Given the description of an element on the screen output the (x, y) to click on. 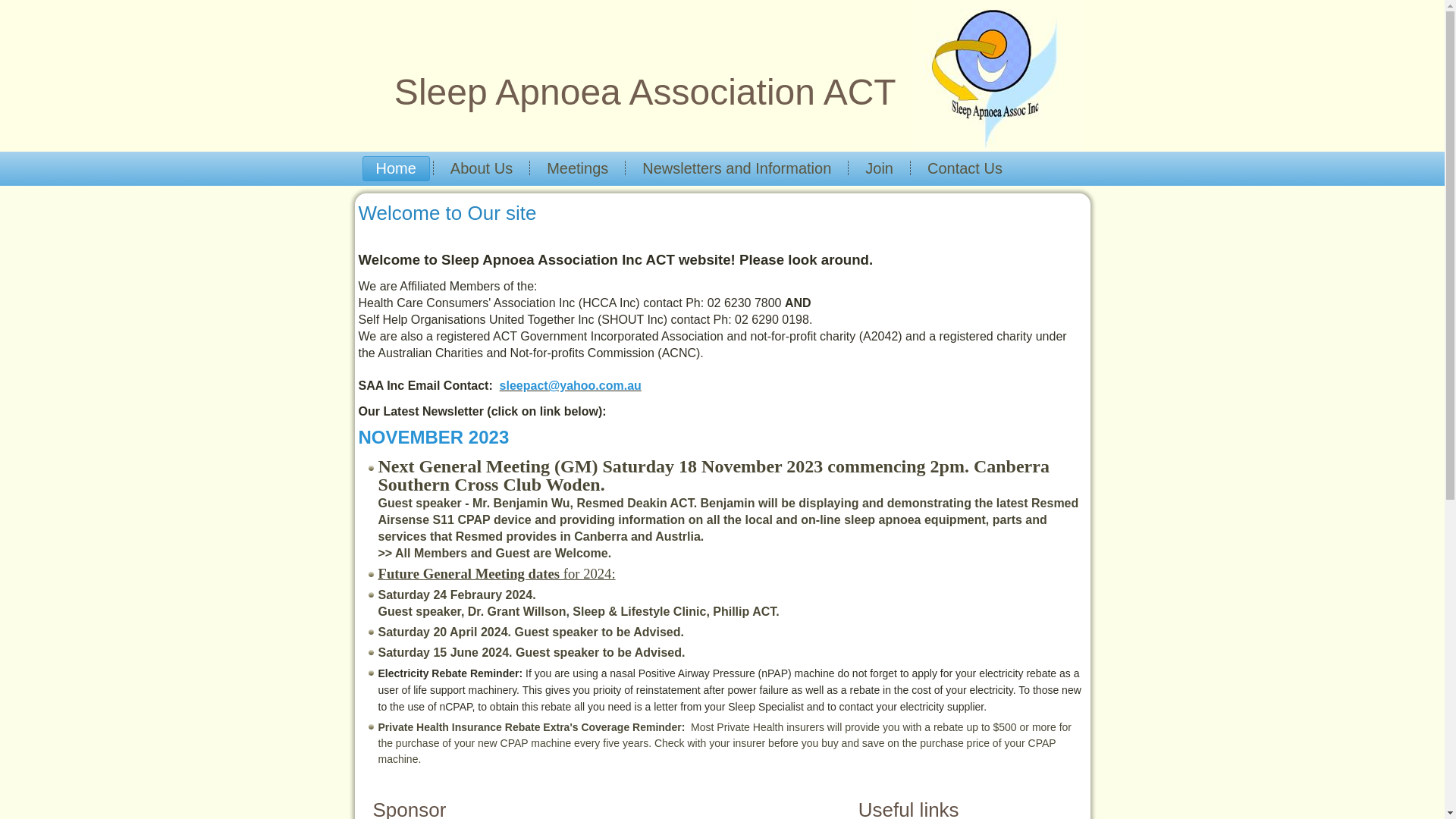
Sleep Apnoea Association ACT Element type: text (645, 92)
sleepact@yahoo.com.au Element type: text (570, 385)
Join Element type: text (878, 168)
Home Element type: text (395, 168)
NOVEMBER 2023 Element type: text (432, 436)
Newsletters and Information Element type: text (736, 168)
Welcome to Our site Element type: text (446, 212)
About Us Element type: text (481, 168)
Contact Us Element type: text (964, 168)
Meetings Element type: text (577, 168)
